Given the description of an element on the screen output the (x, y) to click on. 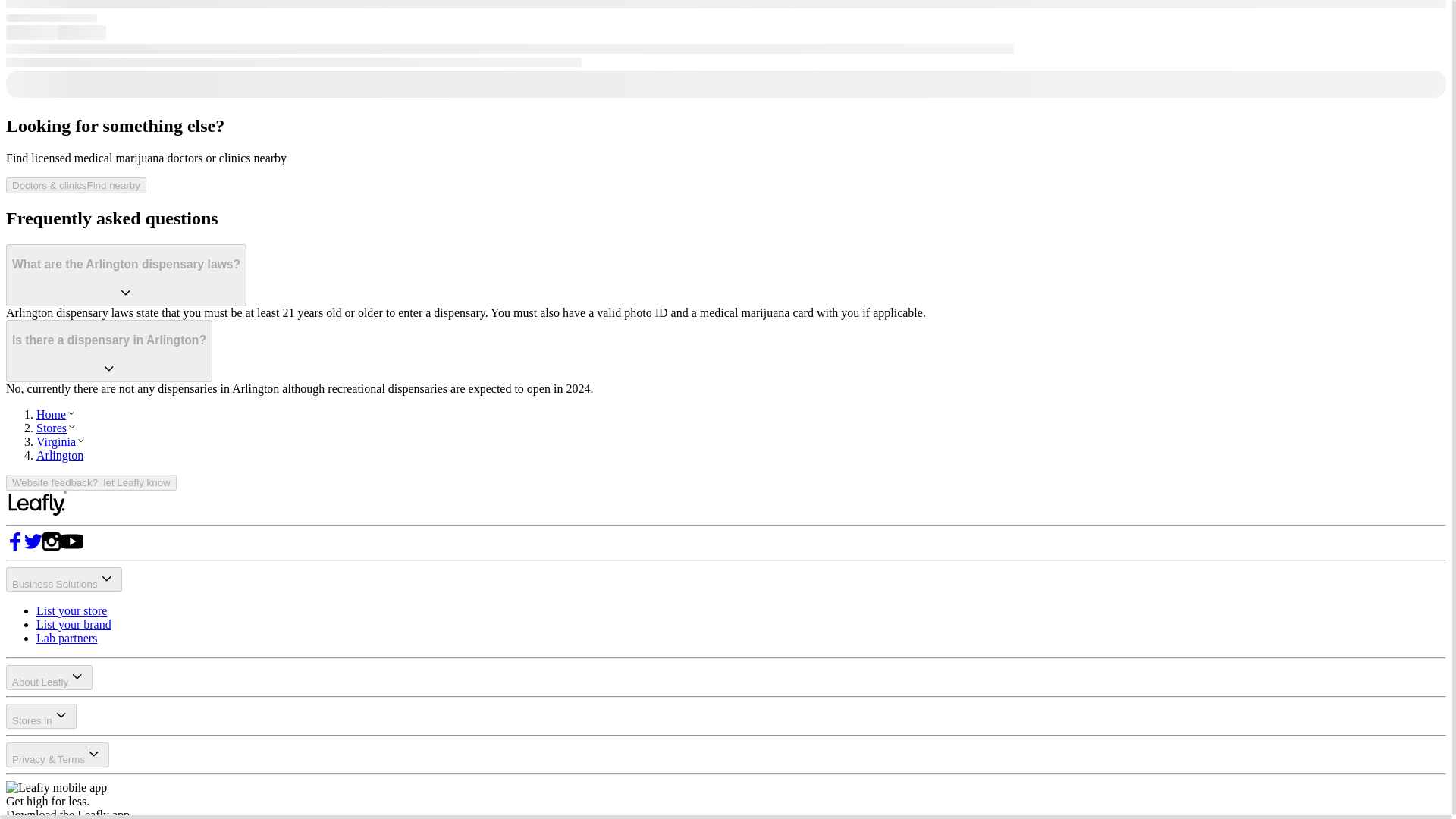
Leafly on Twitter (33, 545)
Leafly on Facebook (14, 545)
Leafly on YouTube (71, 545)
Leafly on Instagram (51, 545)
